Given the description of an element on the screen output the (x, y) to click on. 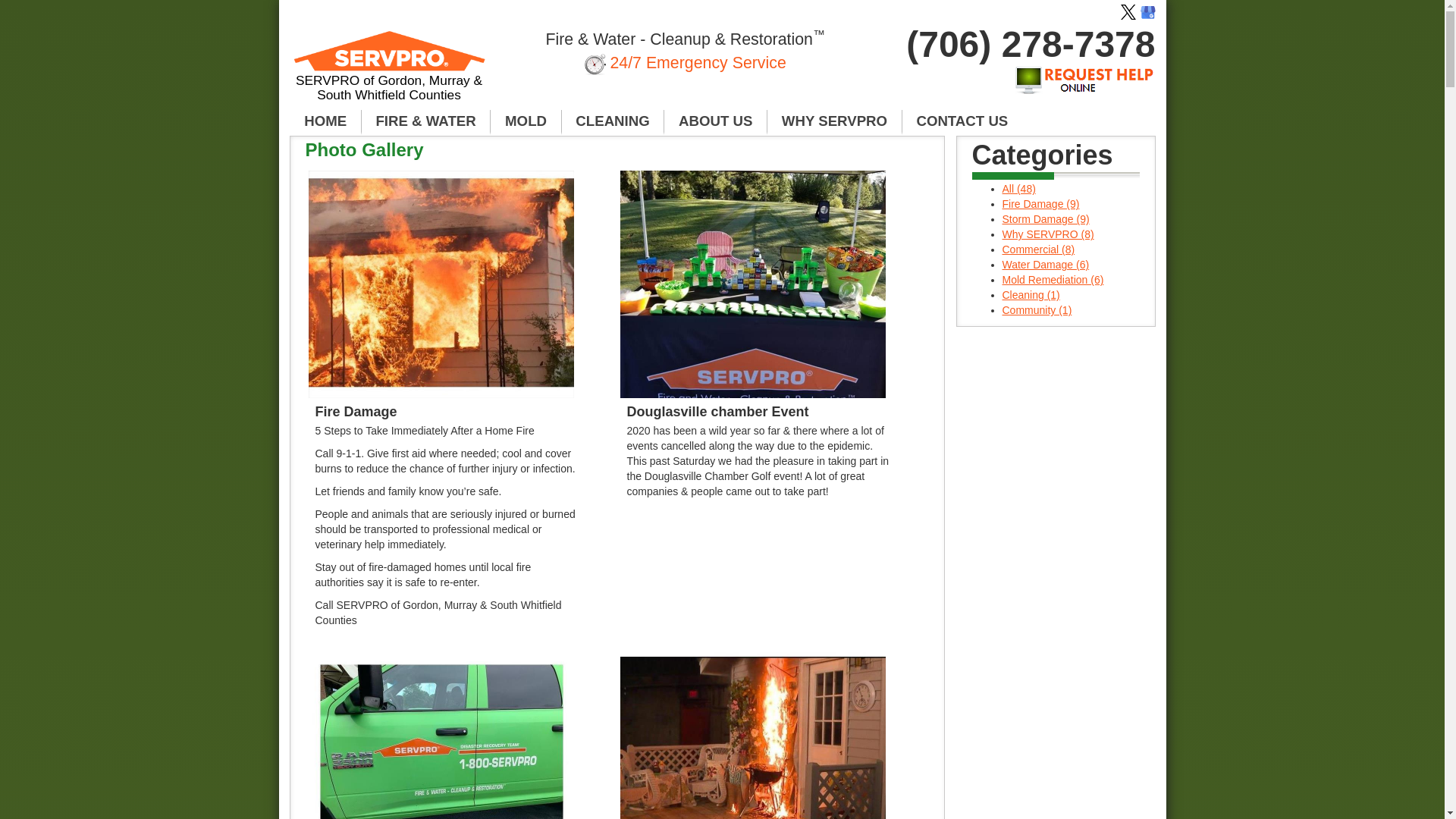
HOME (325, 121)
ABOUT US (715, 121)
MOLD (525, 121)
CLEANING (613, 121)
